Given the description of an element on the screen output the (x, y) to click on. 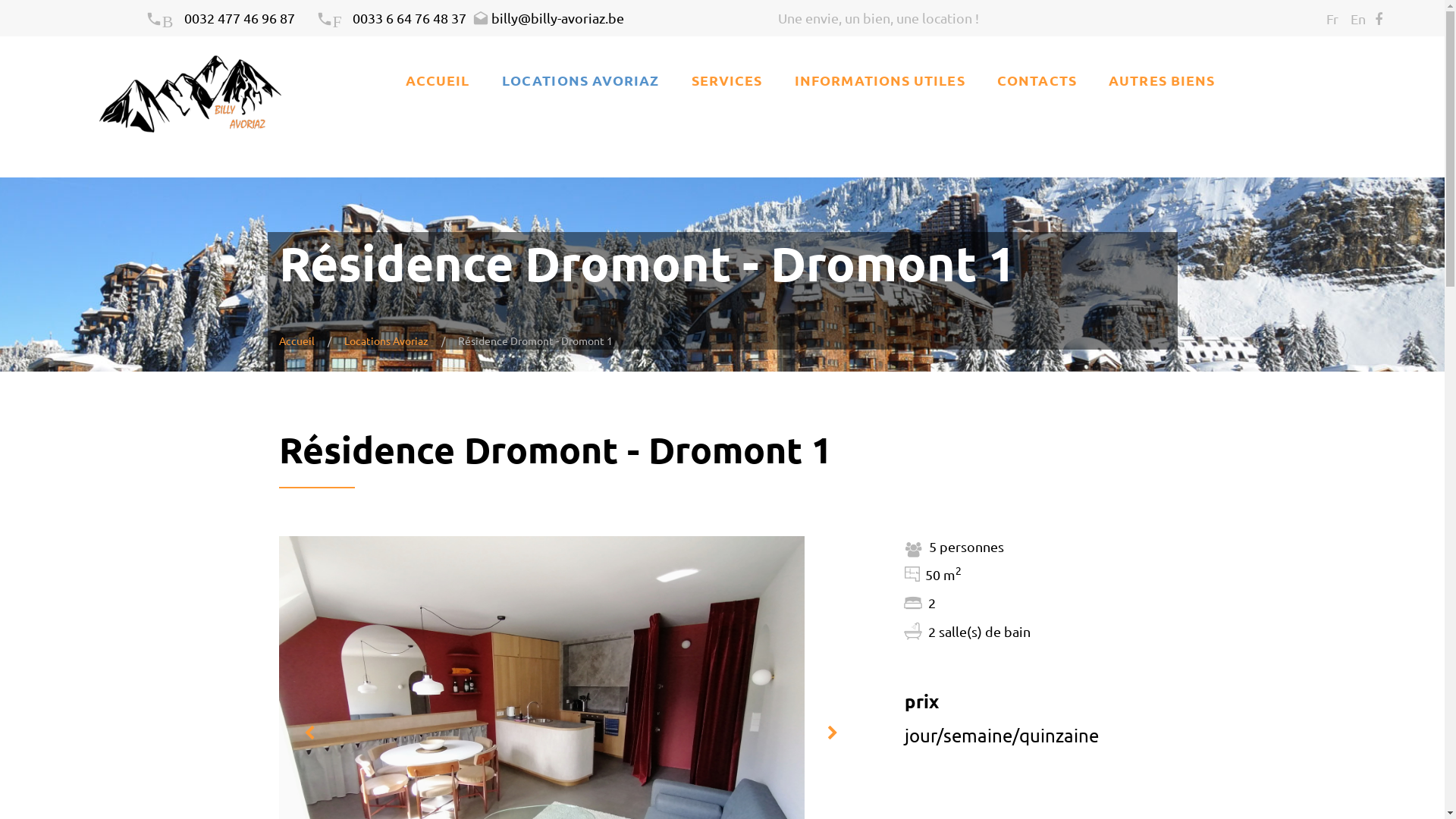
ACCUEIL Element type: text (437, 80)
F   Element type: text (333, 17)
INFORMATIONS UTILES Element type: text (879, 80)
Fr Element type: text (1332, 18)
0032 477 46 96 87 Element type: text (238, 17)
SERVICES Element type: text (726, 80)
B   Element type: text (164, 17)
CONTACTS Element type: text (1036, 80)
Previous Element type: text (308, 732)
Accueil Element type: text (296, 340)
LOCATIONS AVORIAZ Element type: text (580, 80)
En Element type: text (1357, 18)
Next Element type: text (831, 732)
0033 6 64 76 48 37 Element type: text (409, 17)
Locations Avoriaz Element type: text (386, 340)
AUTRES BIENS Element type: text (1161, 80)
billy@billy-avoriaz.be Element type: text (548, 17)
